Given the description of an element on the screen output the (x, y) to click on. 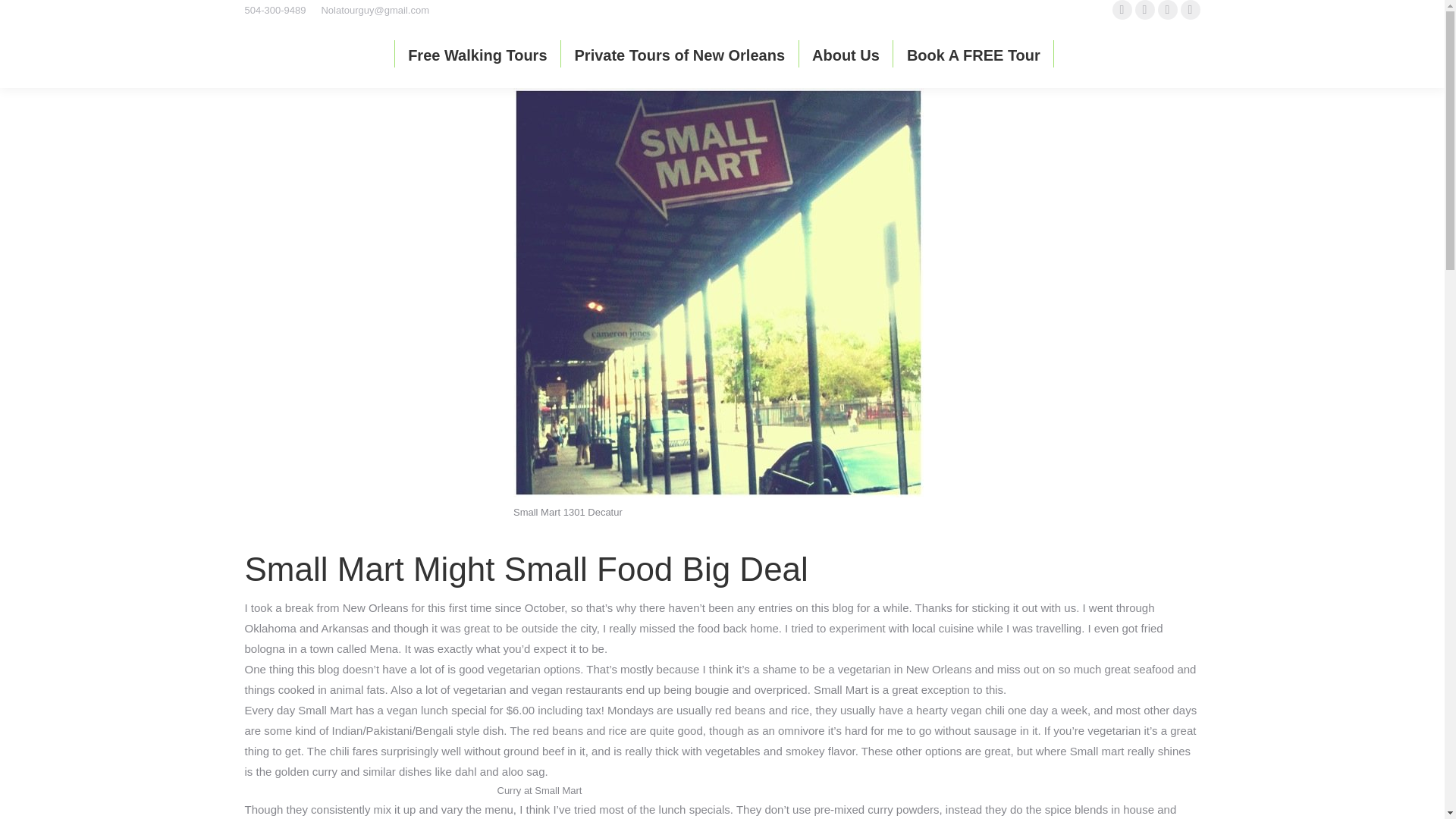
Facebook page opens in new window (1144, 9)
Private Tours of New Orleans (680, 55)
X page opens in new window (1121, 9)
Book A FREE Tour (973, 55)
Free Walking Tours (477, 55)
TripAdvisor page opens in new window (1189, 9)
TripAdvisor page opens in new window (1189, 9)
Instagram page opens in new window (1166, 9)
Instagram page opens in new window (1166, 9)
About Us (845, 55)
